Given the description of an element on the screen output the (x, y) to click on. 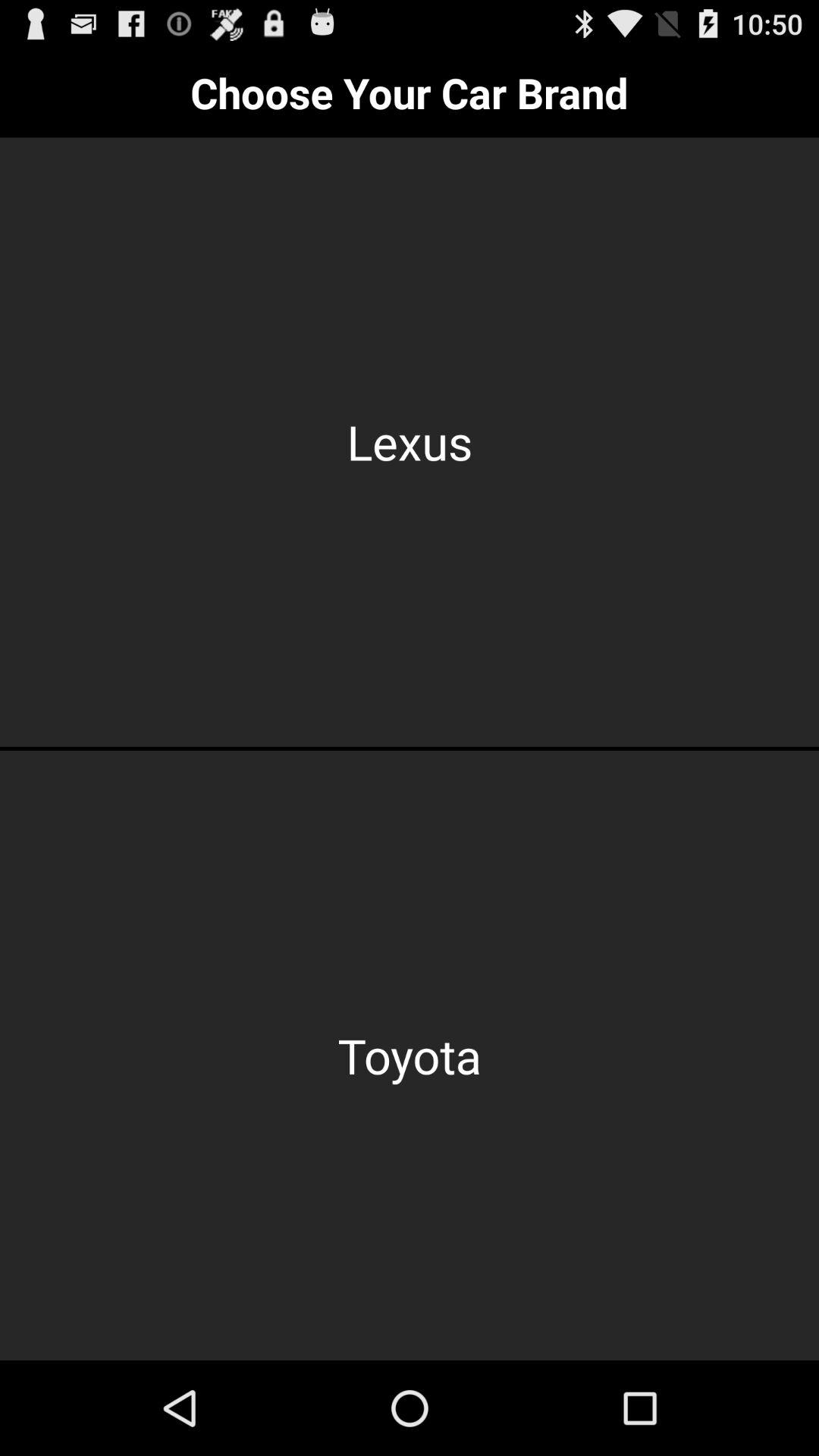
flip to the toyota icon (409, 1055)
